Given the description of an element on the screen output the (x, y) to click on. 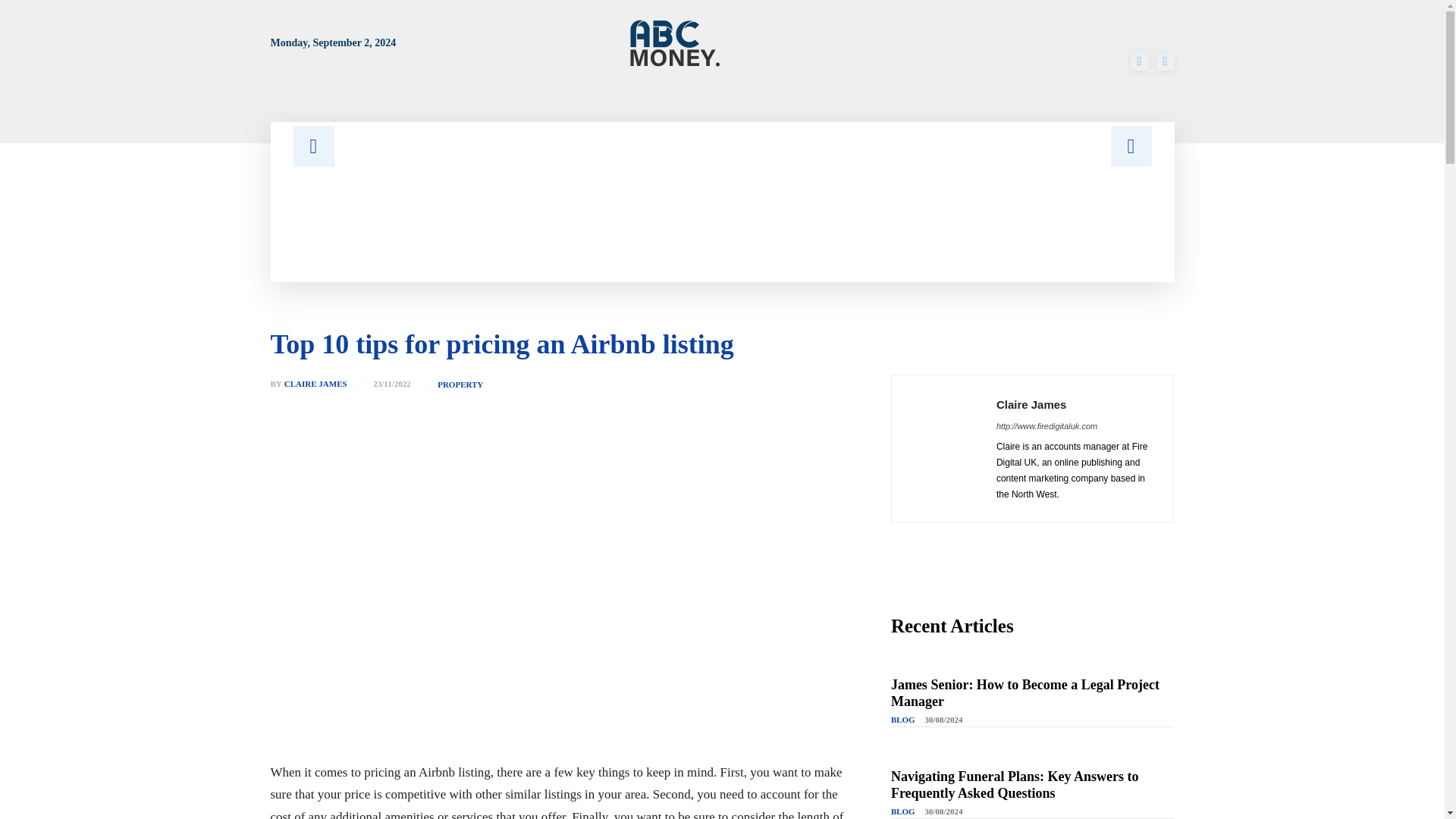
James Senior: How to Become a Legal Project Manager (1024, 693)
Twitter (1164, 60)
Facebook (1138, 60)
PROPERTY (460, 384)
CLAIRE JAMES (315, 384)
